Given the description of an element on the screen output the (x, y) to click on. 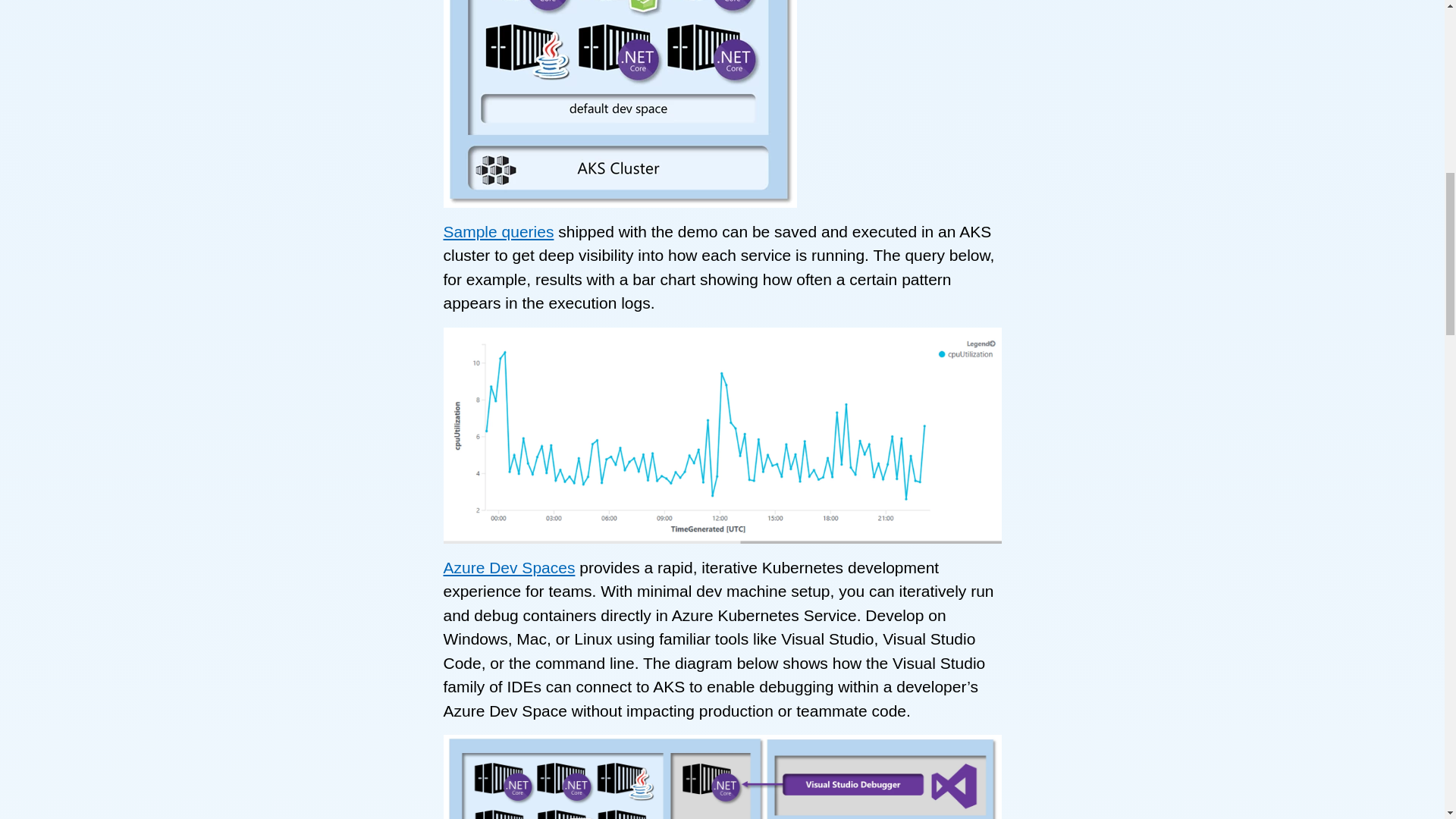
dev-spaces (721, 776)
chart (721, 435)
cluster (619, 104)
